Given the description of an element on the screen output the (x, y) to click on. 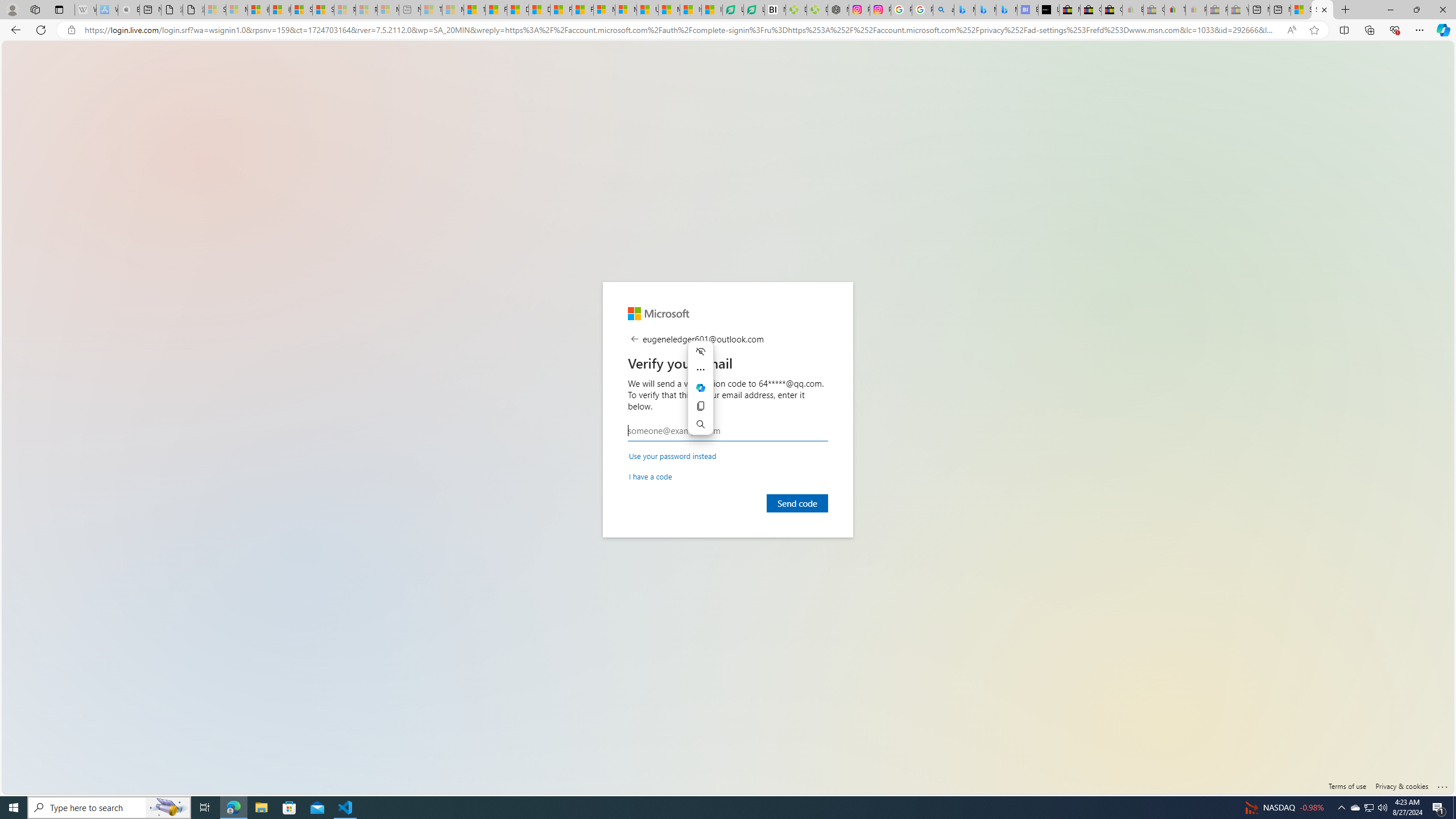
Microsoft Services Agreement - Sleeping (236, 9)
Ask Copilot (700, 387)
LendingTree - Compare Lenders (754, 9)
